Given the description of an element on the screen output the (x, y) to click on. 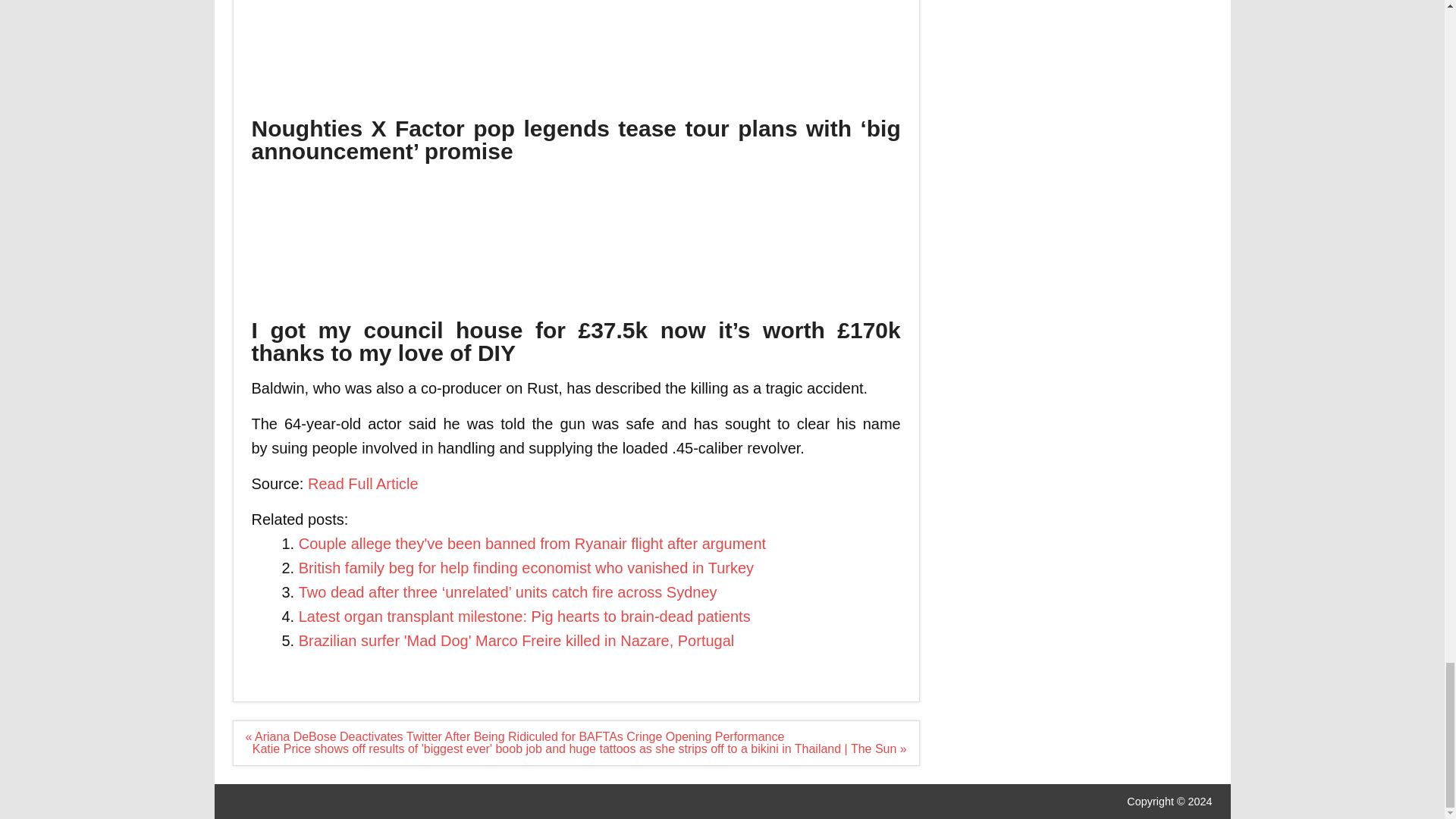
Read Full Article (363, 483)
